Given the description of an element on the screen output the (x, y) to click on. 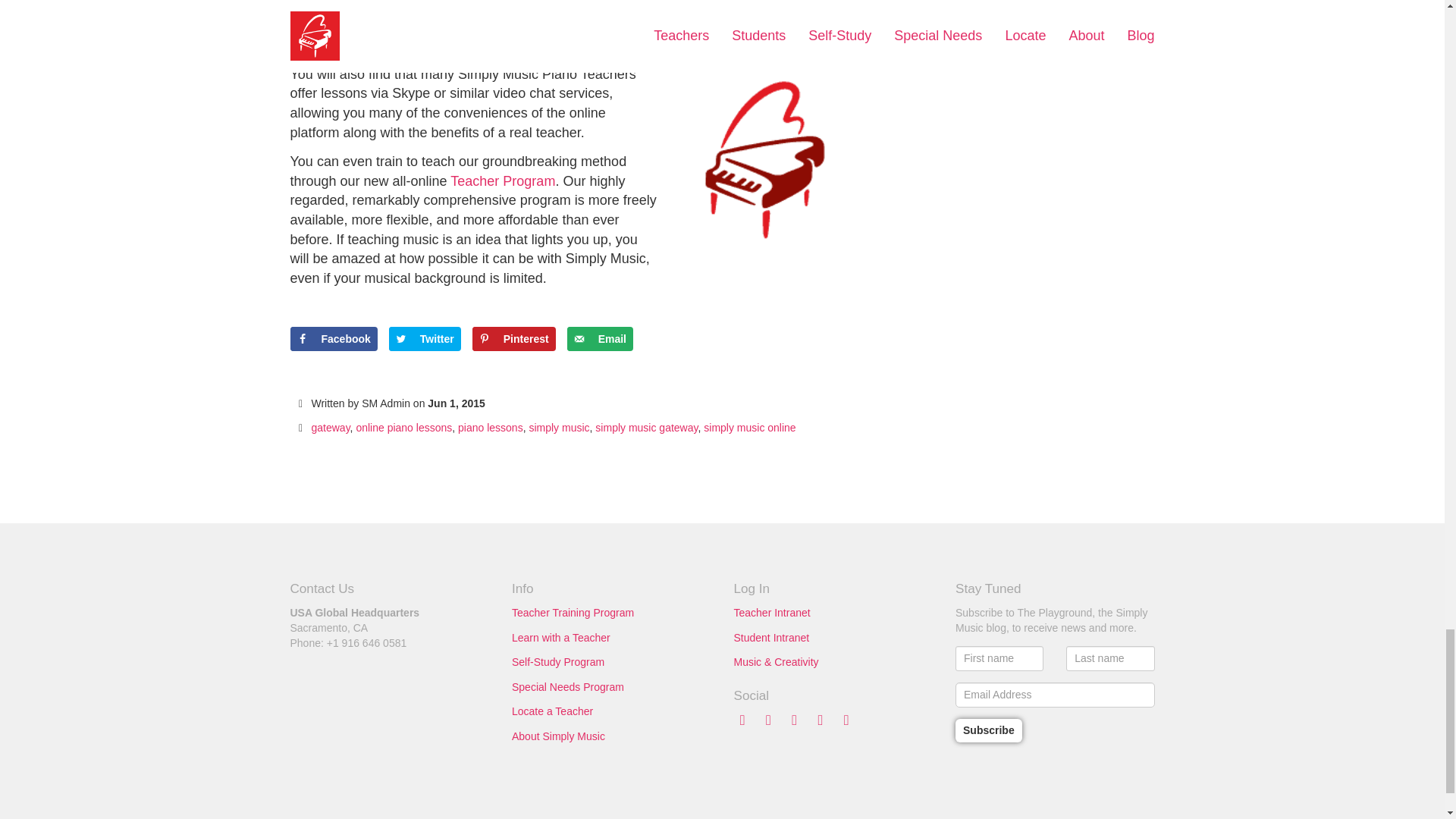
Facebook (333, 338)
Simply Music Piano (390, 6)
piano lessons (490, 427)
Pinterest (513, 338)
Share on Facebook (333, 338)
Teacher Program (501, 181)
Email (600, 338)
gateway (330, 427)
simply music gateway (646, 427)
Share on Twitter (424, 338)
simply music (558, 427)
online piano lessons (403, 427)
simply music online (748, 427)
Twitter (424, 338)
Save to Pinterest (513, 338)
